Given the description of an element on the screen output the (x, y) to click on. 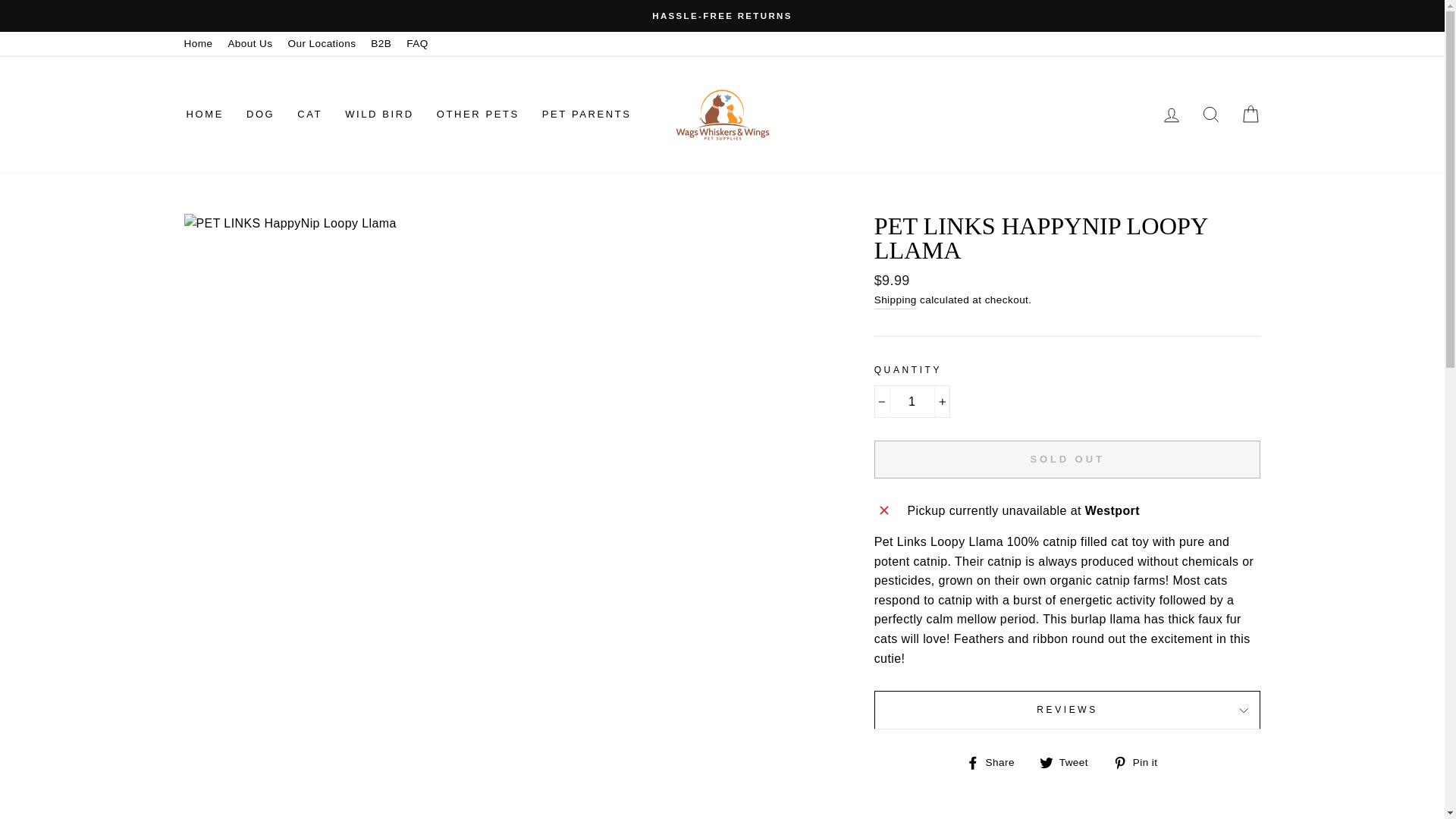
1 (912, 401)
Tweet on Twitter (1069, 762)
Share on Facebook (996, 762)
Pin on Pinterest (1141, 762)
